Given the description of an element on the screen output the (x, y) to click on. 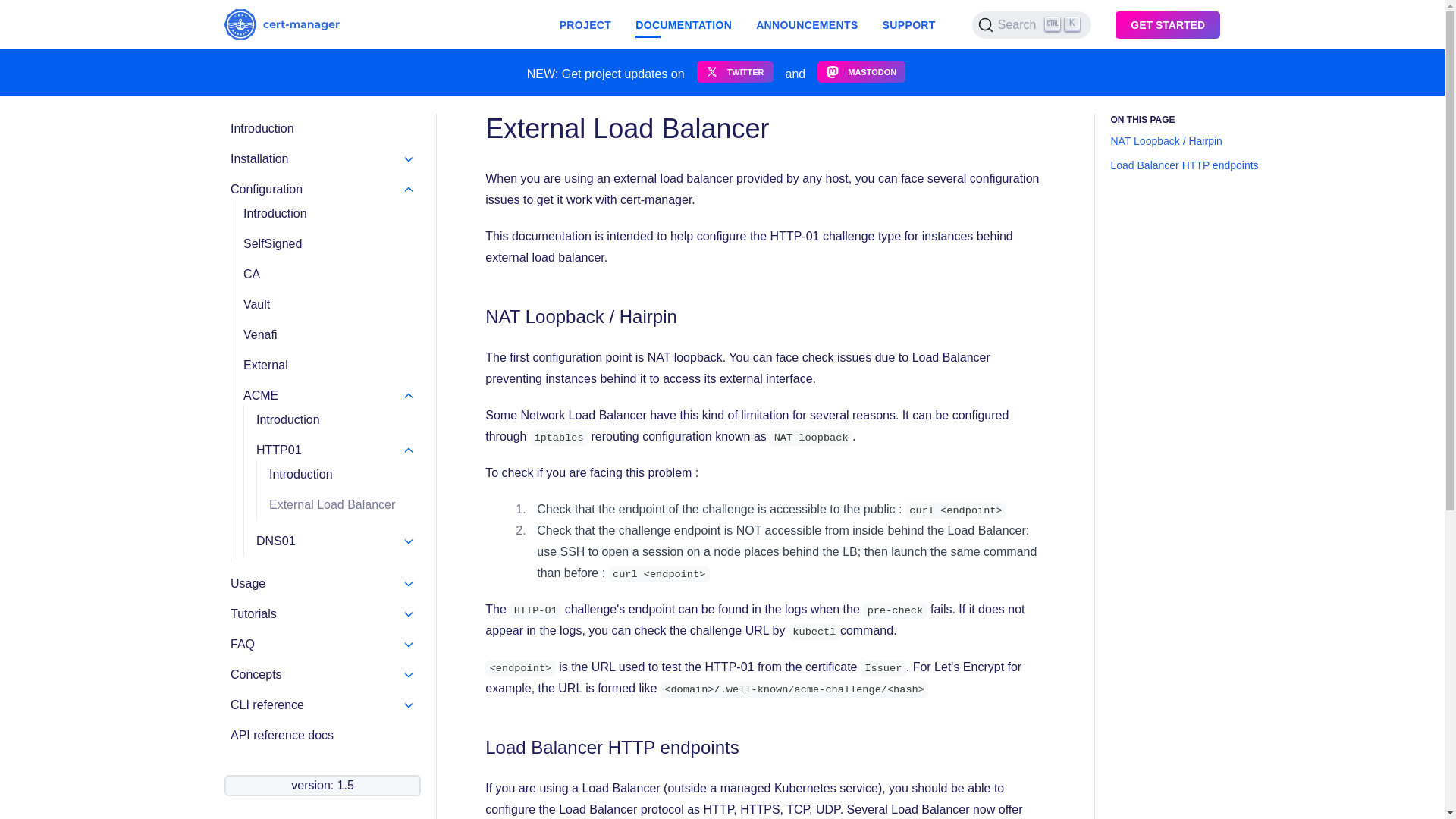
Introduction (335, 419)
External (328, 365)
SUPPORT (909, 23)
Introduction (322, 128)
Introduction (328, 214)
ACME (328, 395)
Configuration (322, 189)
Introduction (341, 474)
Venafi (328, 335)
MASTODON (860, 71)
